Given the description of an element on the screen output the (x, y) to click on. 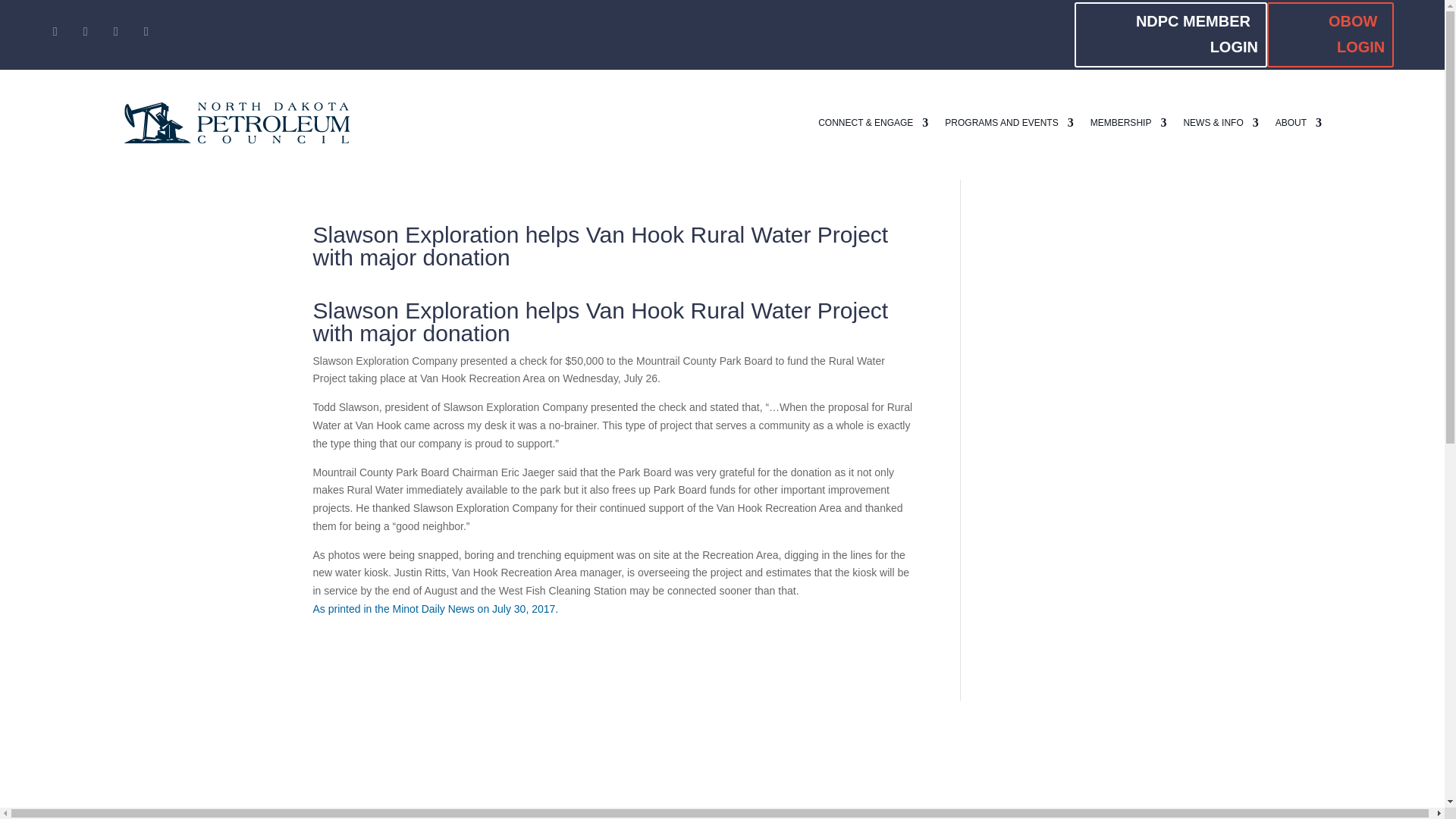
Follow on Facebook (54, 31)
PROGRAMS AND EVENTS (1008, 123)
Follow on Youtube (145, 31)
OBOW LOGIN (1329, 34)
MEMBERSHIP (1128, 123)
NDPC MEMBER LOGIN (1170, 34)
Follow on LinkedIn (115, 31)
Follow on X (85, 31)
